Given the description of an element on the screen output the (x, y) to click on. 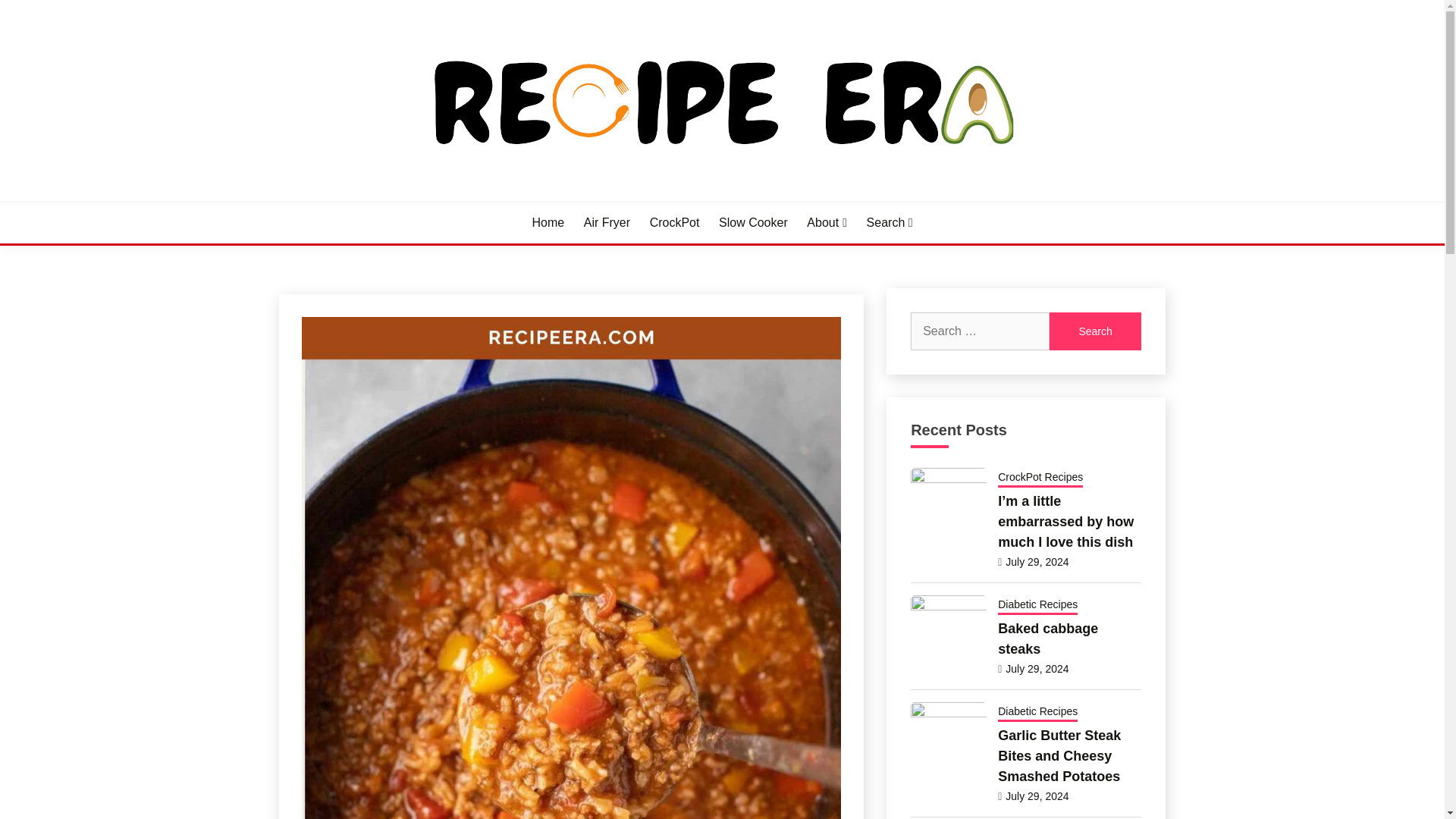
About (826, 222)
RECIPEERA (360, 199)
Search (1095, 331)
Slow Cooker (753, 222)
CrockPot Recipes (1040, 477)
Home (547, 222)
July 29, 2024 (1037, 561)
Air Fryer (606, 222)
CrockPot (674, 222)
Search (1095, 331)
Search (1095, 331)
